Given the description of an element on the screen output the (x, y) to click on. 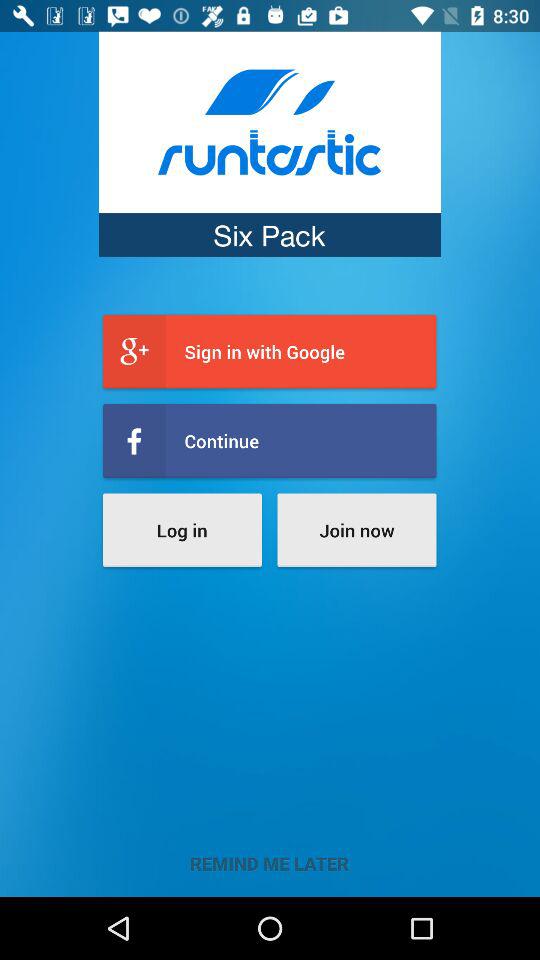
turn on the icon above the remind me later (356, 529)
